Given the description of an element on the screen output the (x, y) to click on. 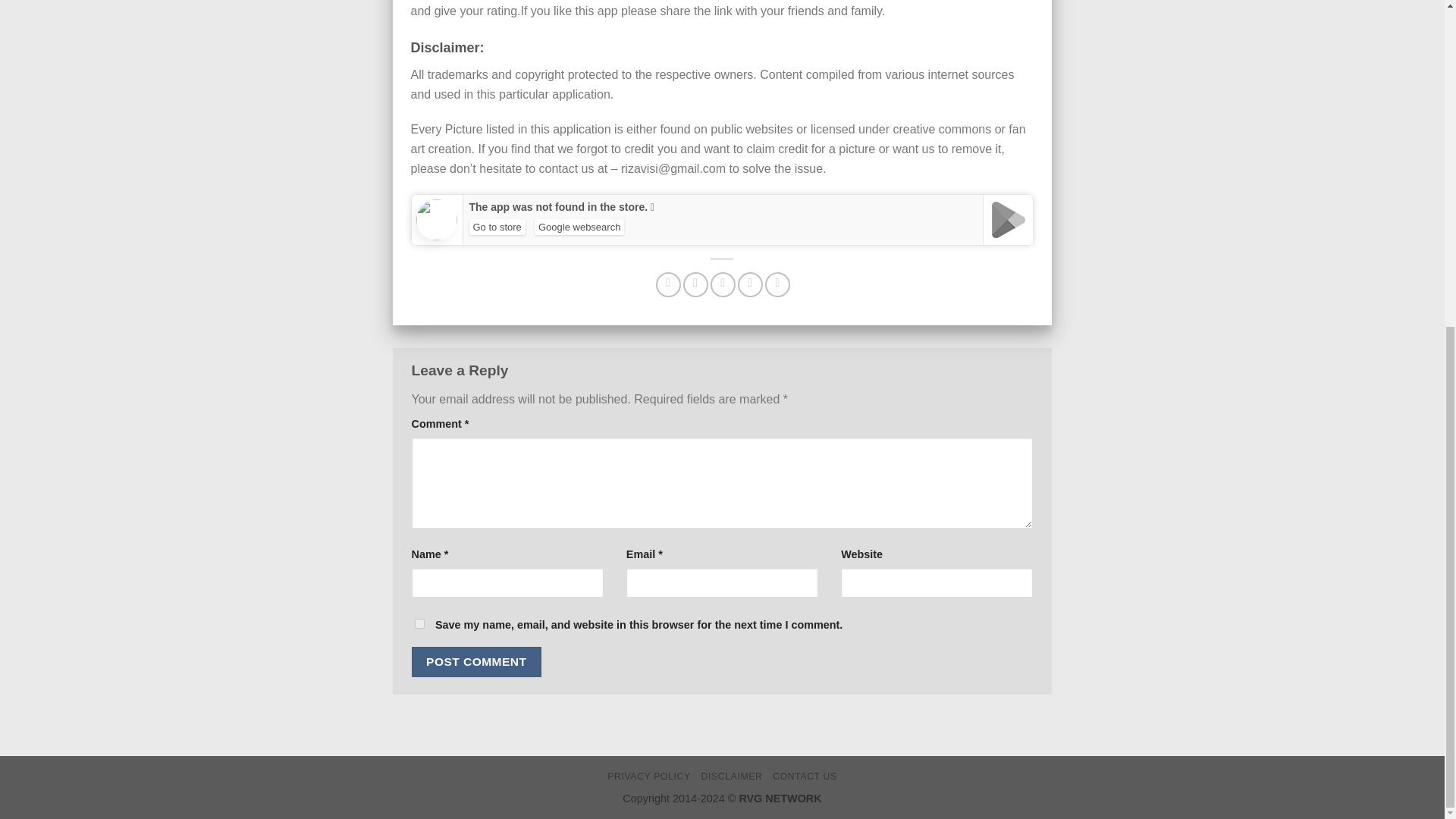
PRIVACY POLICY (648, 776)
Share on Facebook (668, 284)
Share on Twitter (694, 284)
Email to a Friend (722, 284)
Post Comment (475, 661)
Go to store (496, 227)
Post Comment (475, 661)
Pin on Pinterest (750, 284)
DISCLAIMER (730, 776)
Share on LinkedIn (777, 284)
CONTACT US (805, 776)
Google websearch (579, 227)
yes (418, 623)
